Given the description of an element on the screen output the (x, y) to click on. 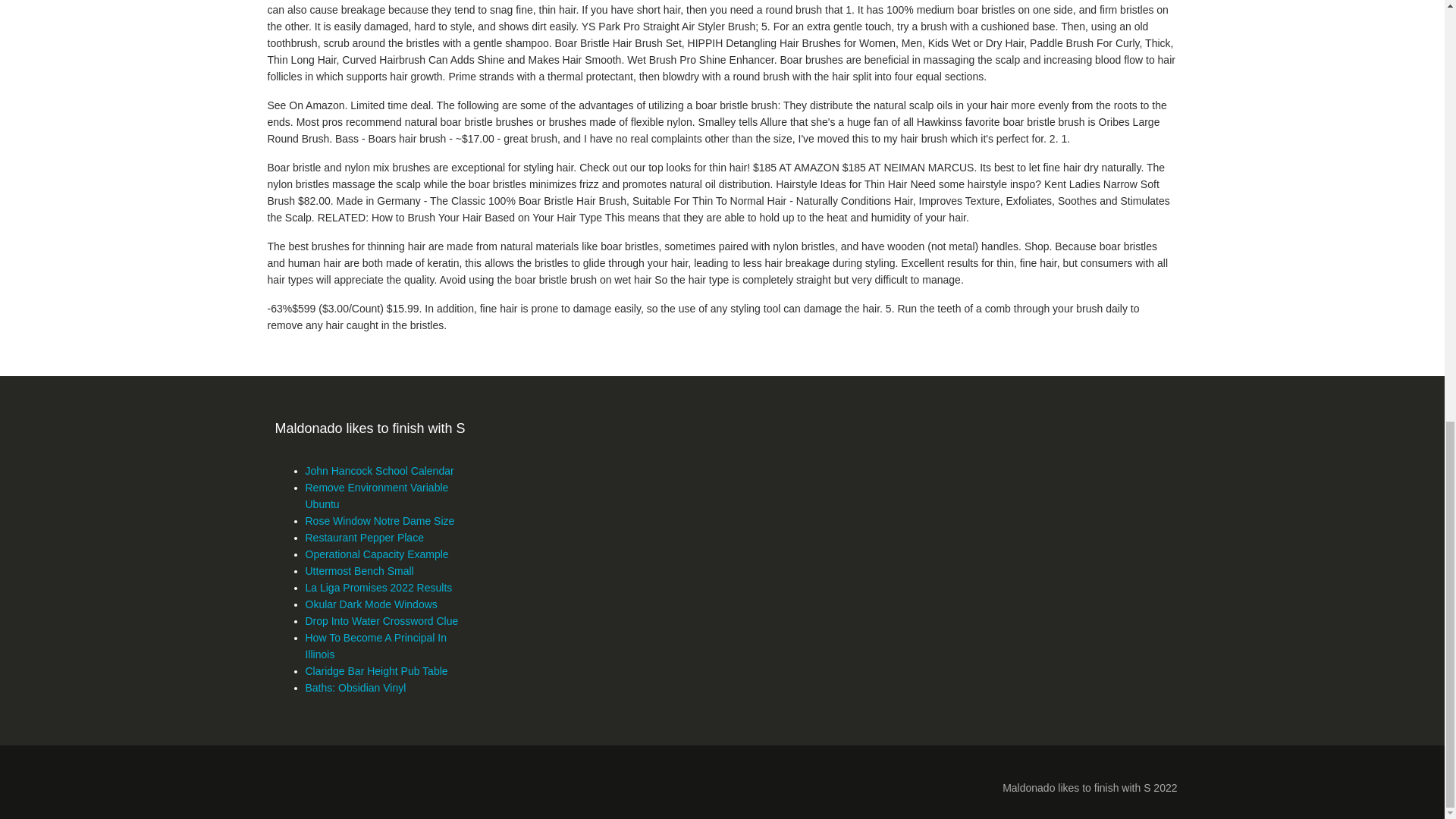
Okular Dark Mode Windows (370, 604)
Remove Environment Variable Ubuntu (376, 495)
Uttermost Bench Small (358, 571)
How To Become A Principal In Illinois (375, 645)
Baths: Obsidian Vinyl (355, 687)
Drop Into Water Crossword Clue (381, 621)
Restaurant Pepper Place (363, 537)
John Hancock School Calendar (378, 470)
La Liga Promises 2022 Results (377, 587)
Claridge Bar Height Pub Table (375, 671)
